Given the description of an element on the screen output the (x, y) to click on. 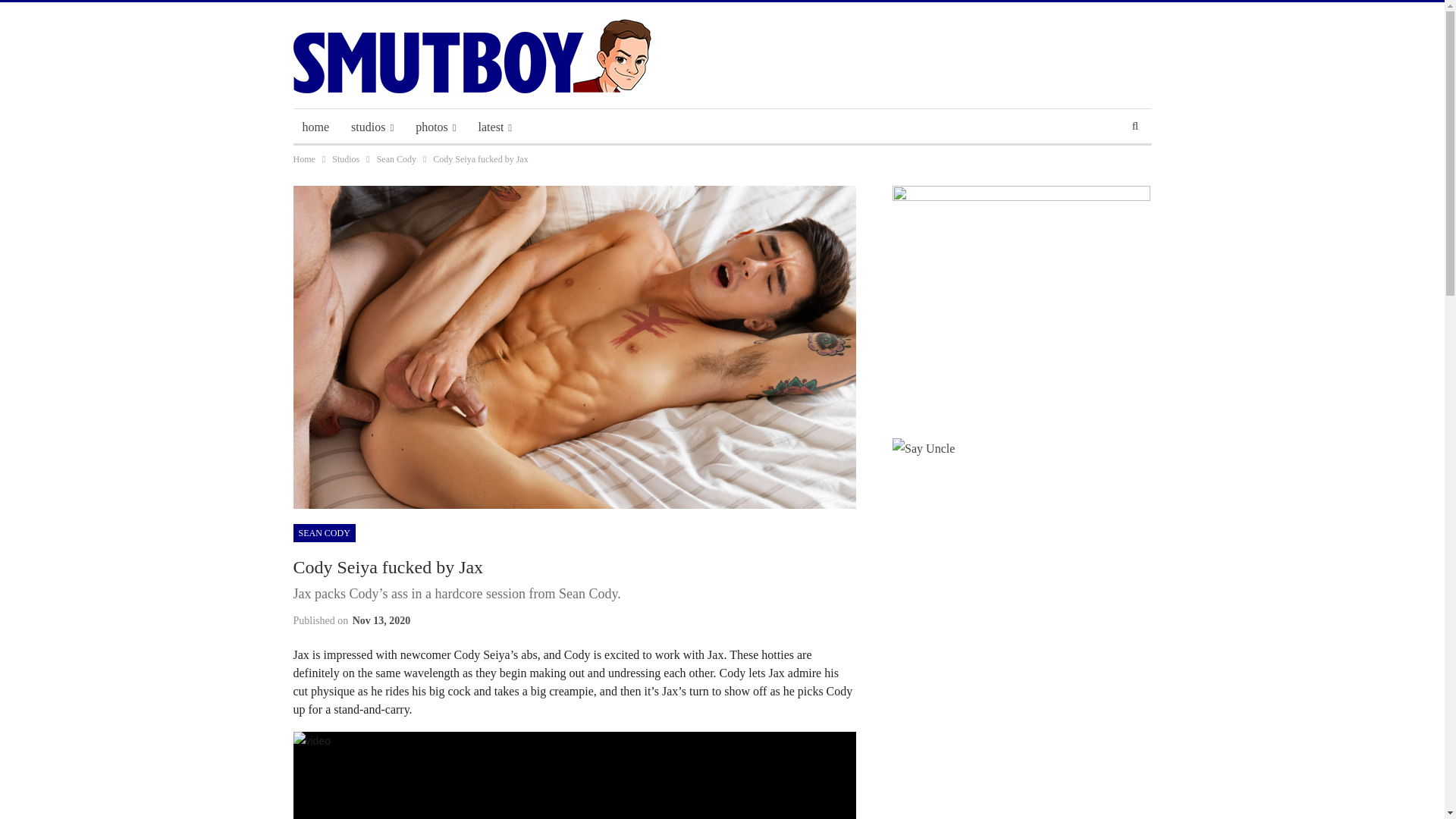
photos (435, 126)
home (314, 126)
studios (372, 126)
Cody Seiya fucked by Jax 1 (574, 775)
latest (494, 126)
